Given the description of an element on the screen output the (x, y) to click on. 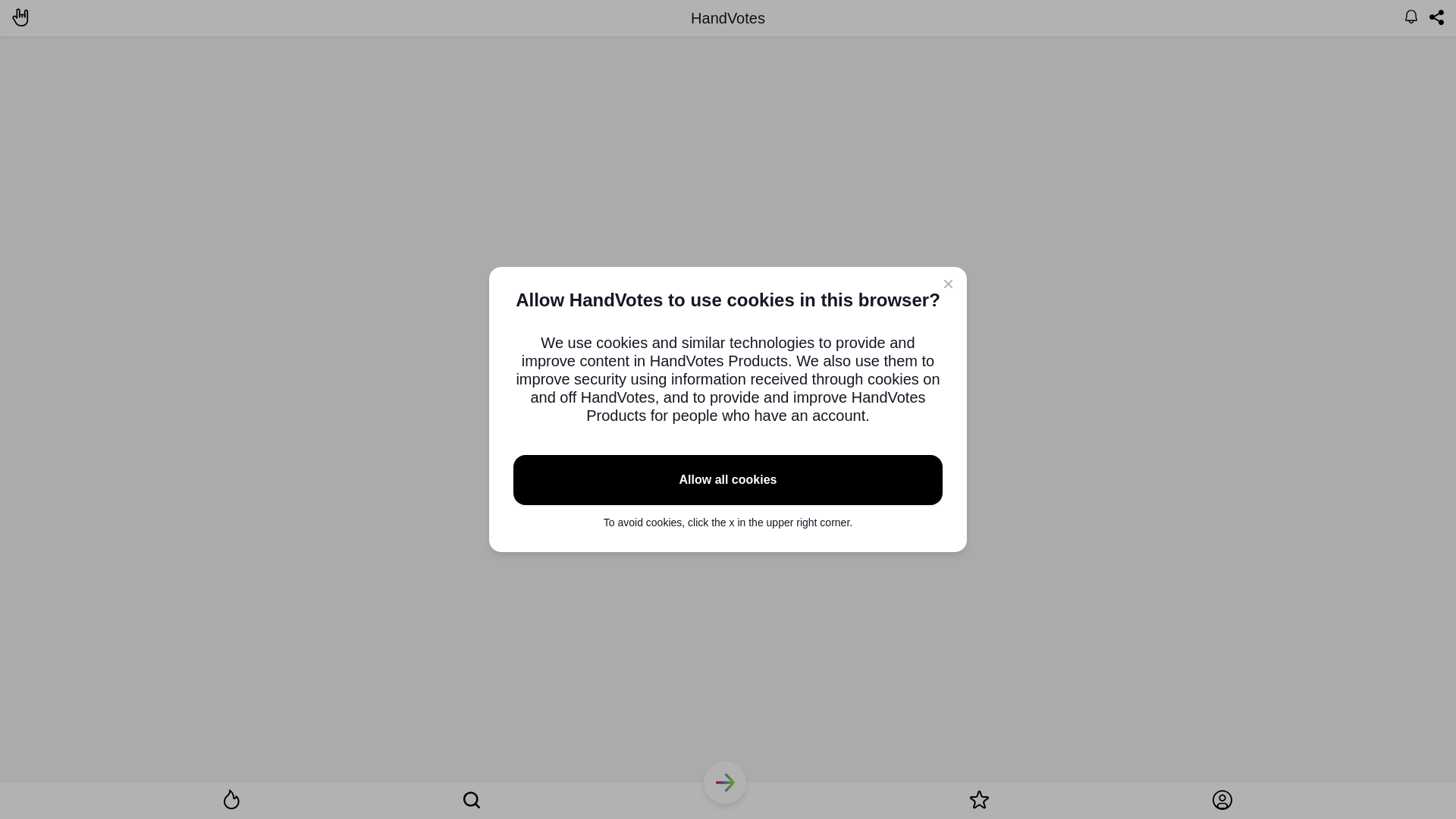
Allow all cookies Element type: text (727, 480)
HandVotes Element type: text (727, 17)
